Given the description of an element on the screen output the (x, y) to click on. 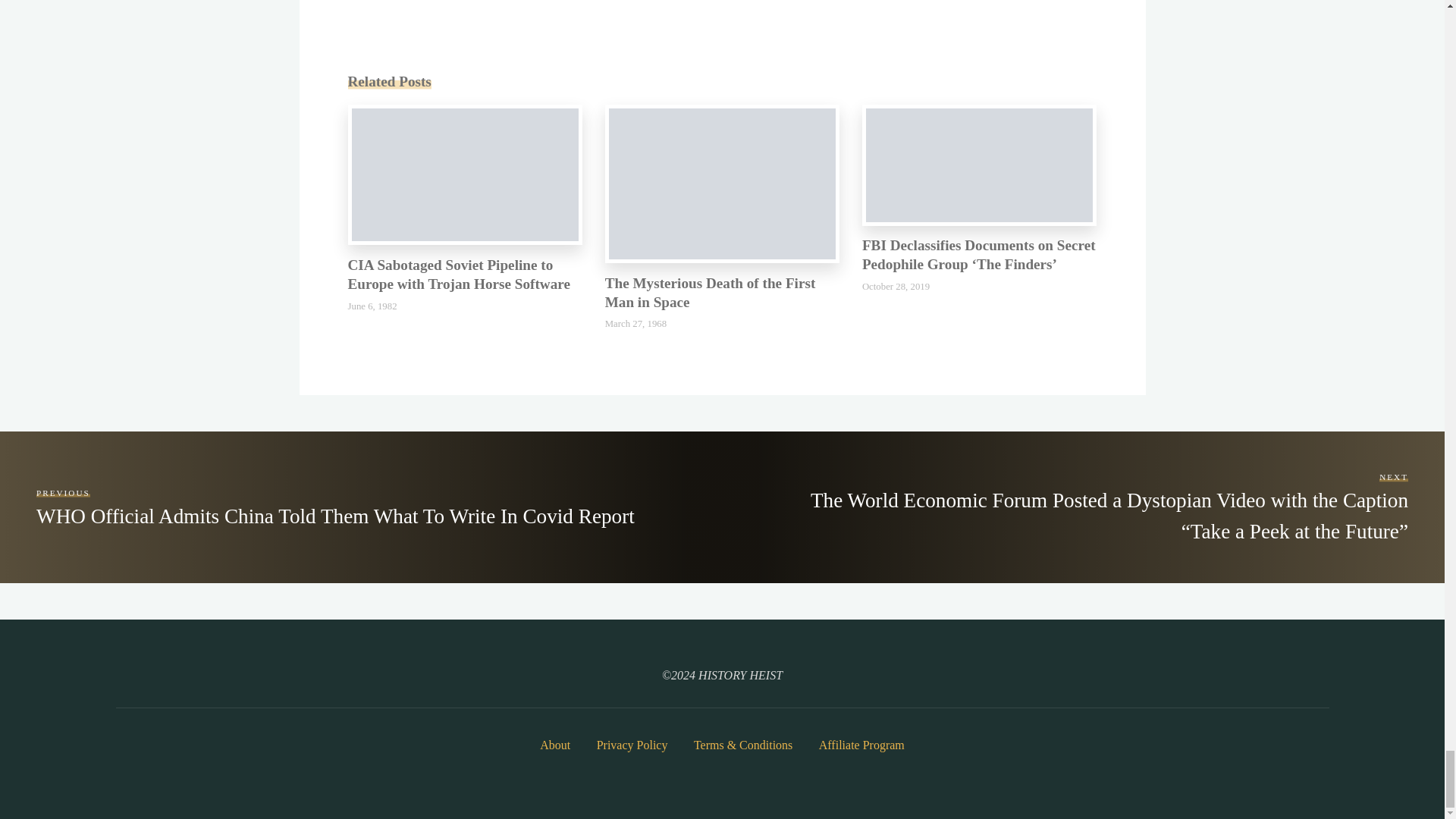
The Mysterious Death of the First Man in Space (721, 182)
